Given the description of an element on the screen output the (x, y) to click on. 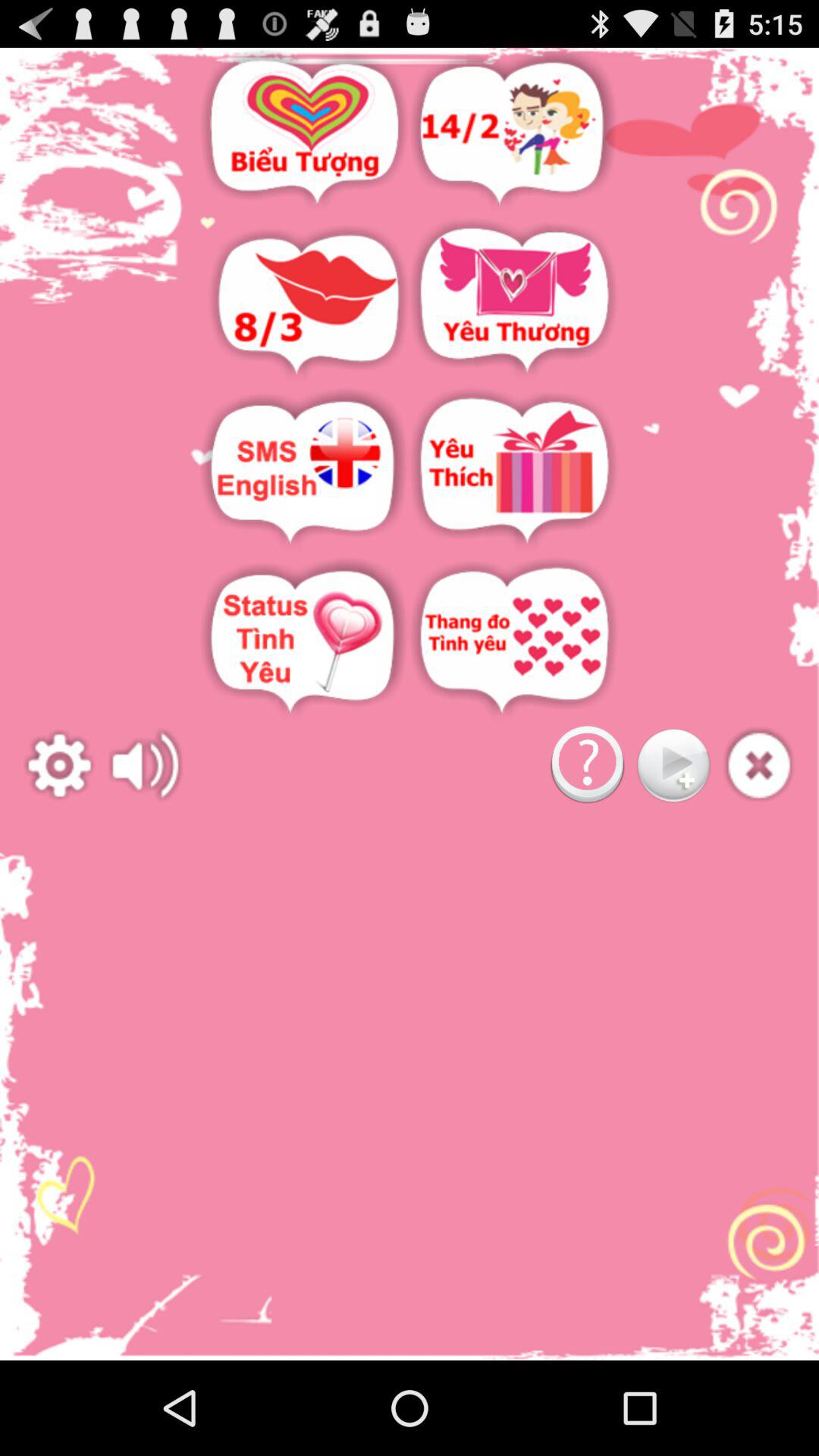
go to settings (59, 765)
